Given the description of an element on the screen output the (x, y) to click on. 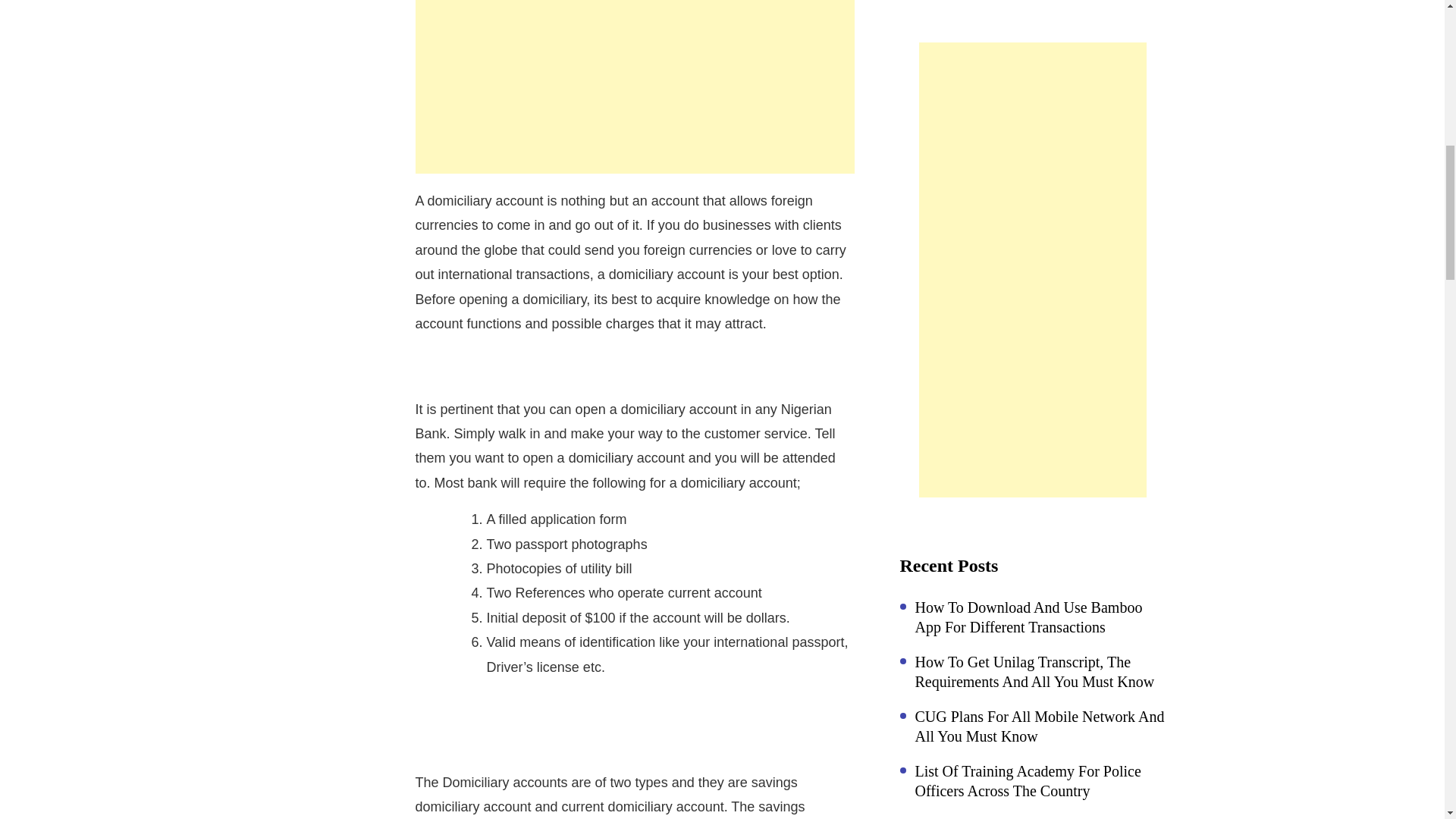
INTERNET MOBILE BANKING (336, 2)
Advertisement (634, 86)
